Given the description of an element on the screen output the (x, y) to click on. 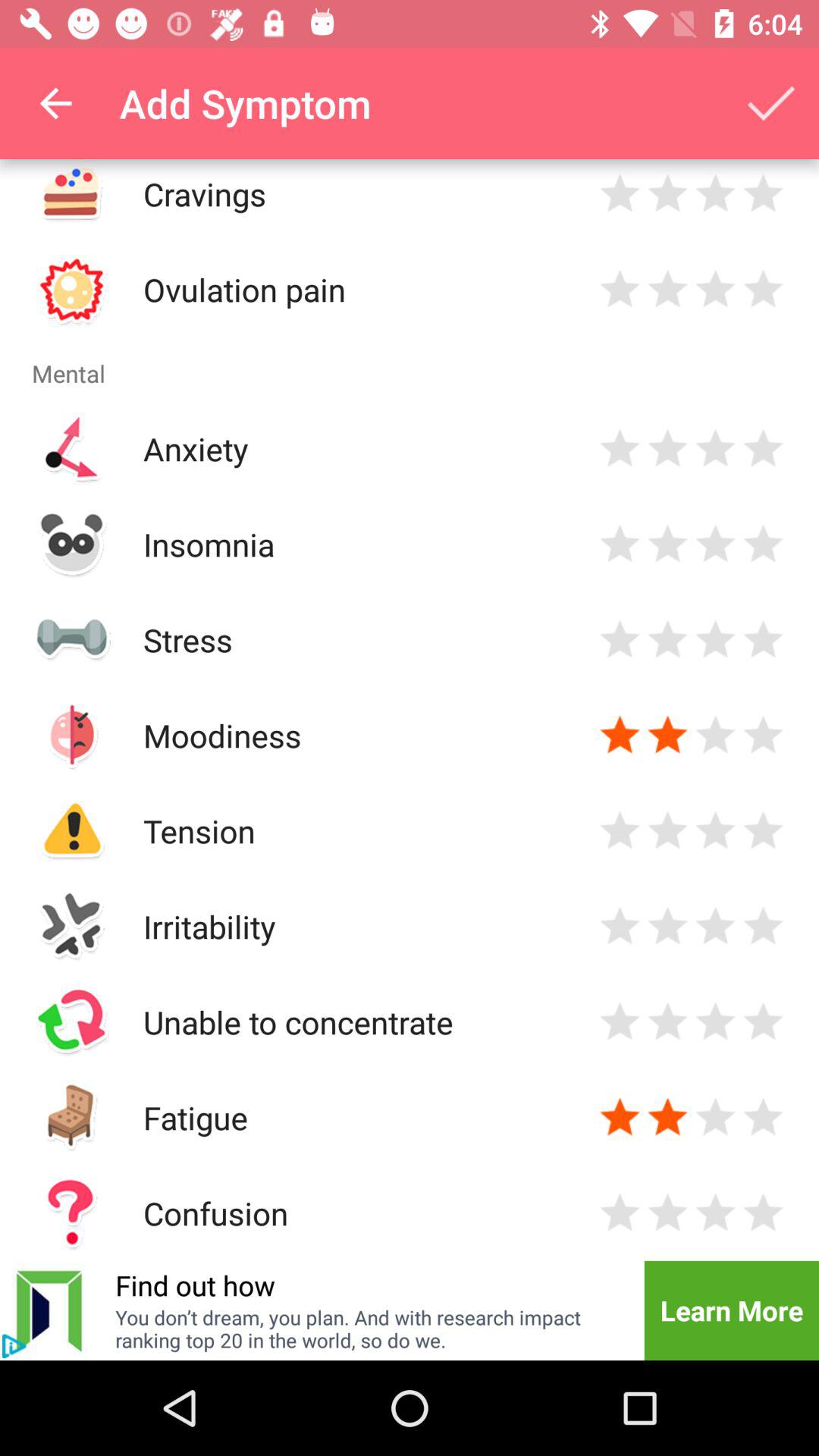
evaluate mental (667, 830)
